Given the description of an element on the screen output the (x, y) to click on. 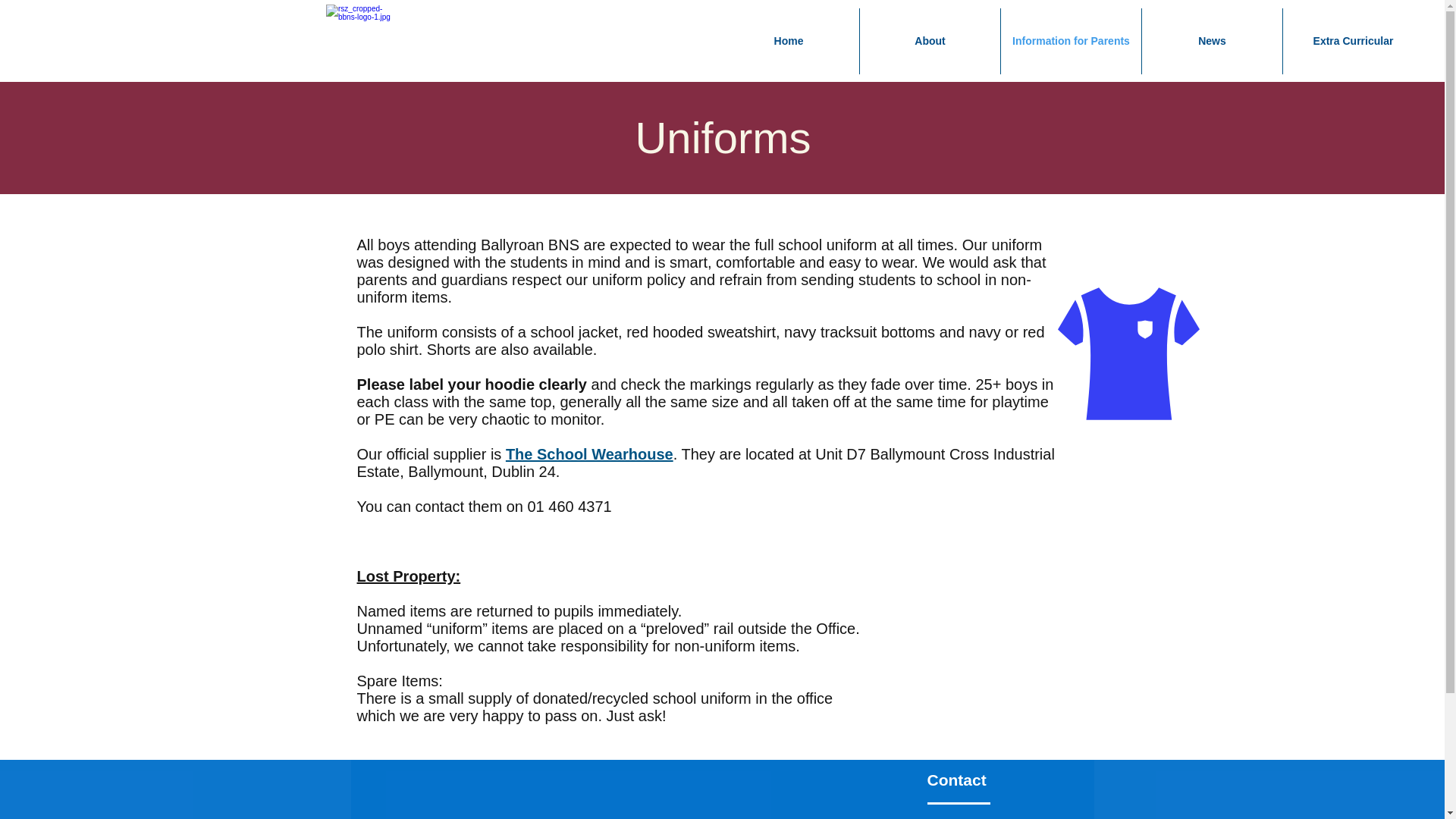
The School Wearhouse (588, 453)
About (930, 41)
Information for Parents (1071, 41)
Extra Curricular (1352, 41)
Home (788, 41)
News (1211, 41)
